Given the description of an element on the screen output the (x, y) to click on. 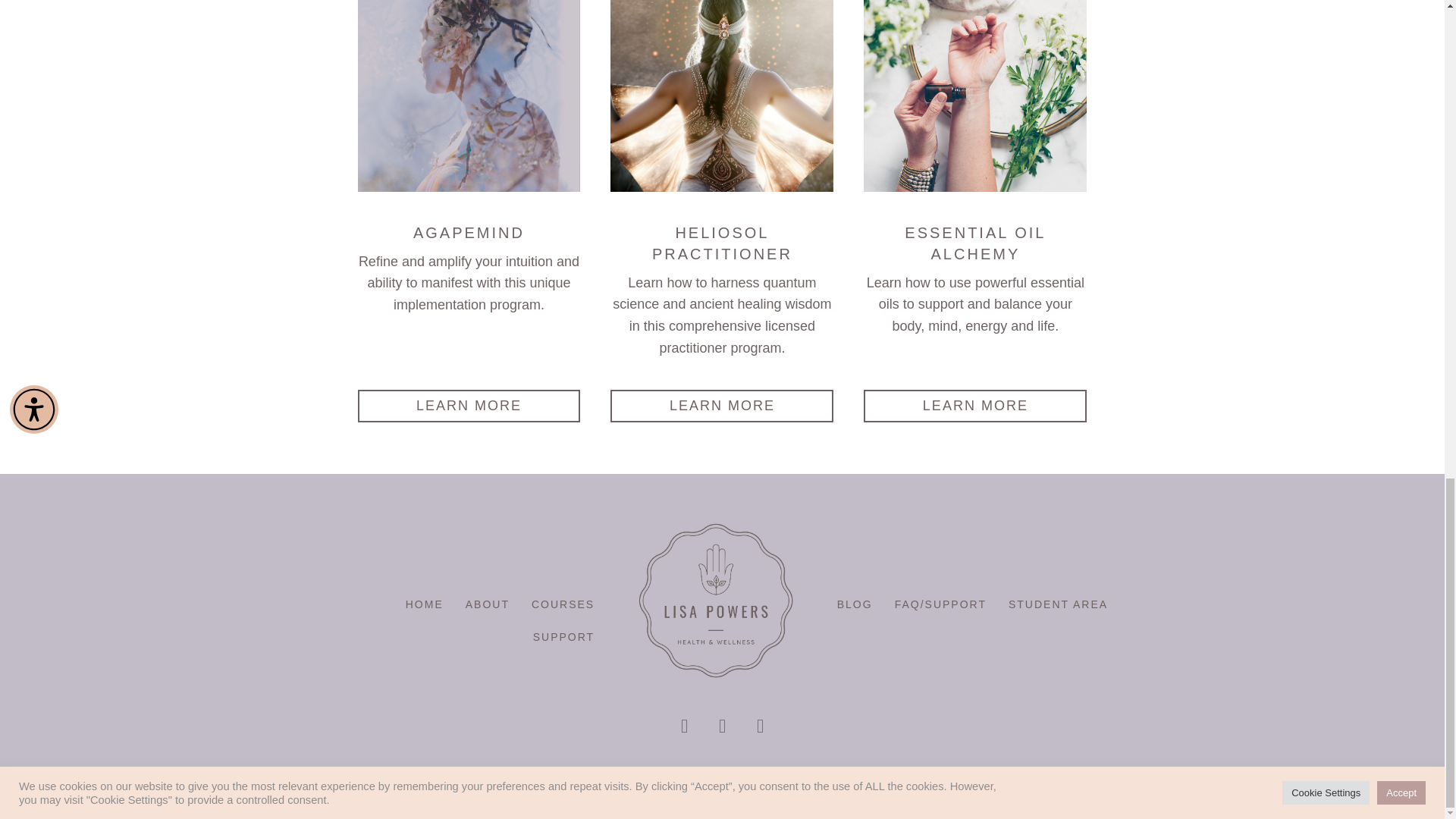
AGAPEMIND I'M IN (469, 95)
STUDENT AREA (1057, 603)
BLOG (855, 603)
COURSES (563, 603)
SUPPORT (563, 636)
ABOUT (486, 603)
LEARN MORE (721, 405)
Lisa-Powers-Logo-2 (715, 600)
LEARN MORE (469, 405)
HOME (424, 603)
LEARN MORE (974, 405)
HELIOSOL PRACTITIONER (721, 95)
essential oil course (974, 95)
